Given the description of an element on the screen output the (x, y) to click on. 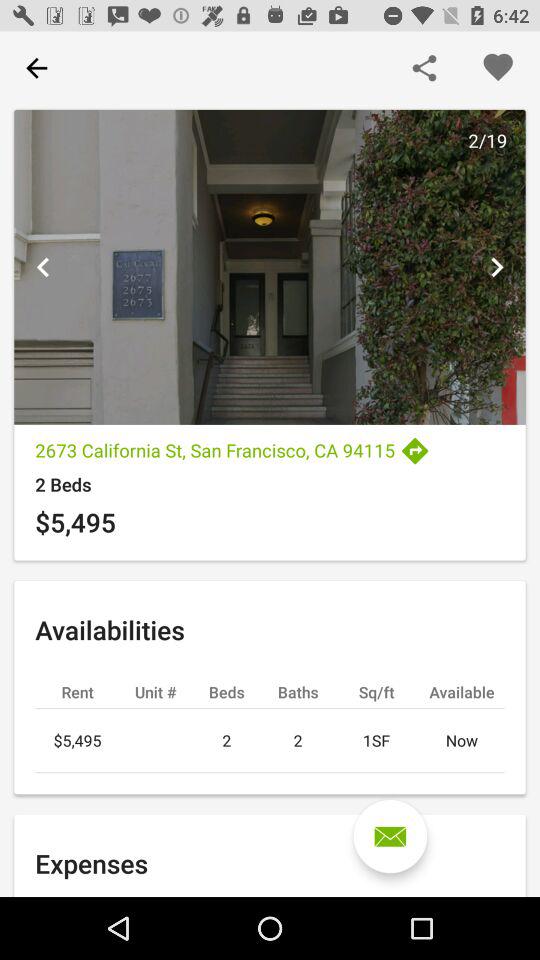
share (424, 68)
